Given the description of an element on the screen output the (x, y) to click on. 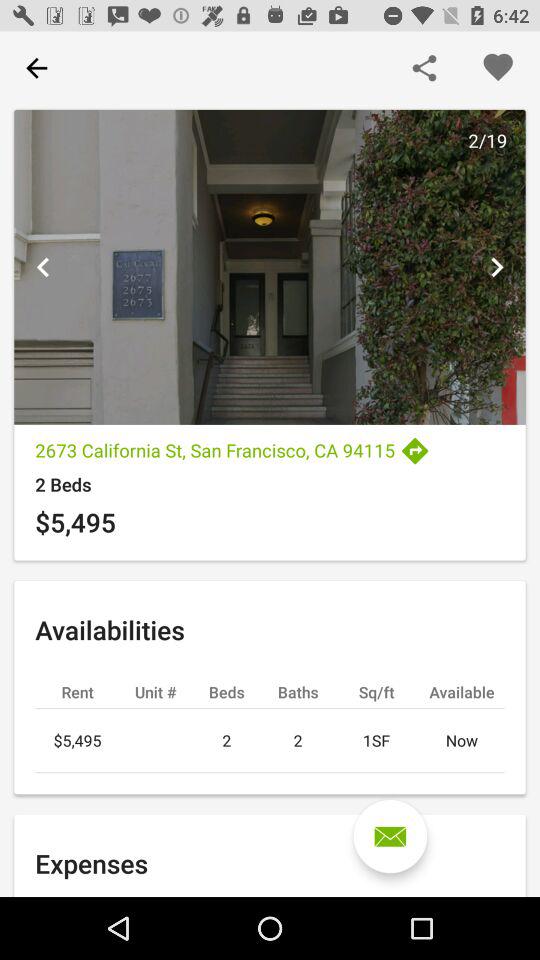
share (424, 68)
